Given the description of an element on the screen output the (x, y) to click on. 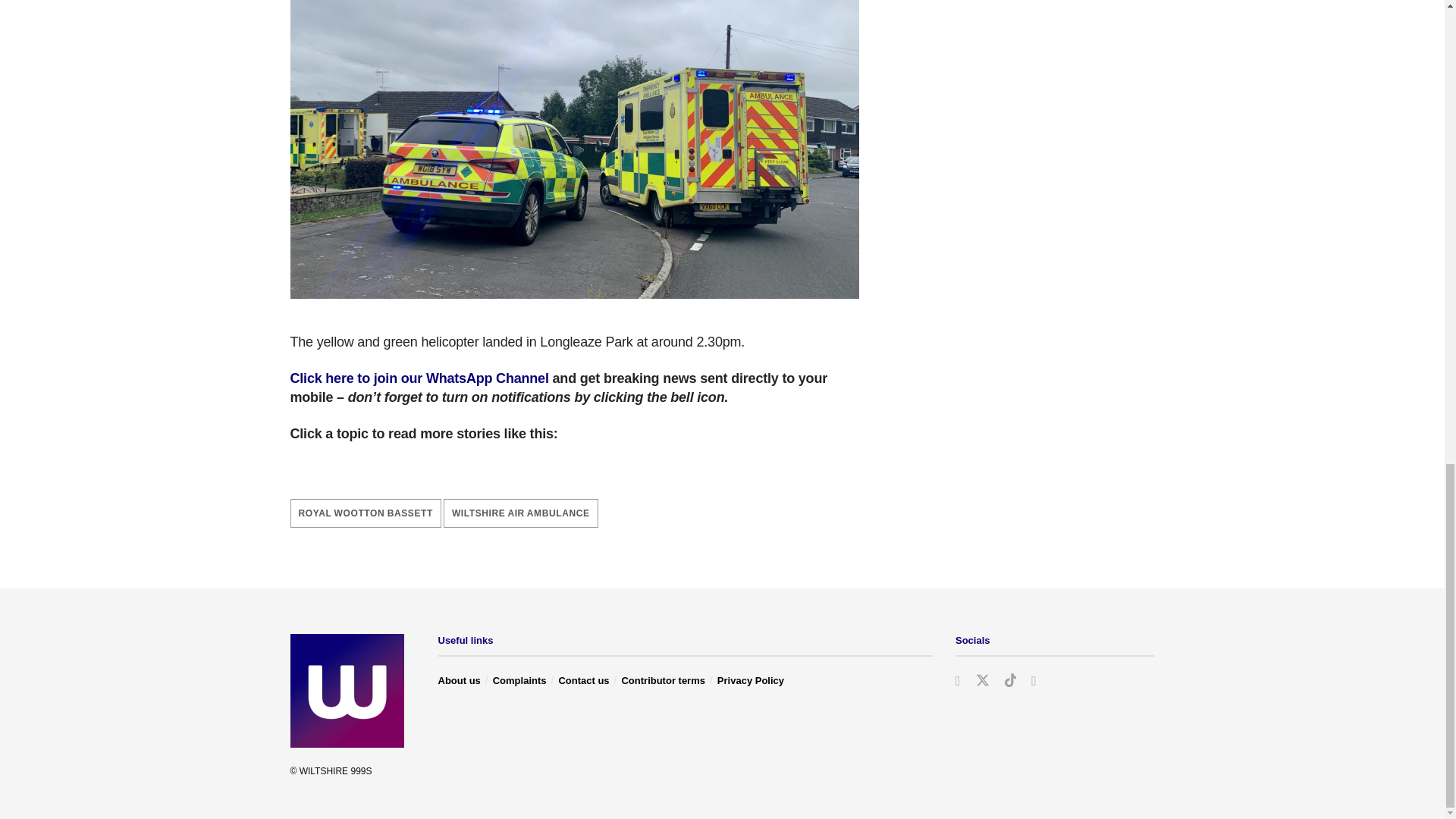
ROYAL WOOTTON BASSETT (365, 512)
WILTSHIRE AIR AMBULANCE (521, 512)
Click here to join our WhatsApp Channel (418, 378)
